Given the description of an element on the screen output the (x, y) to click on. 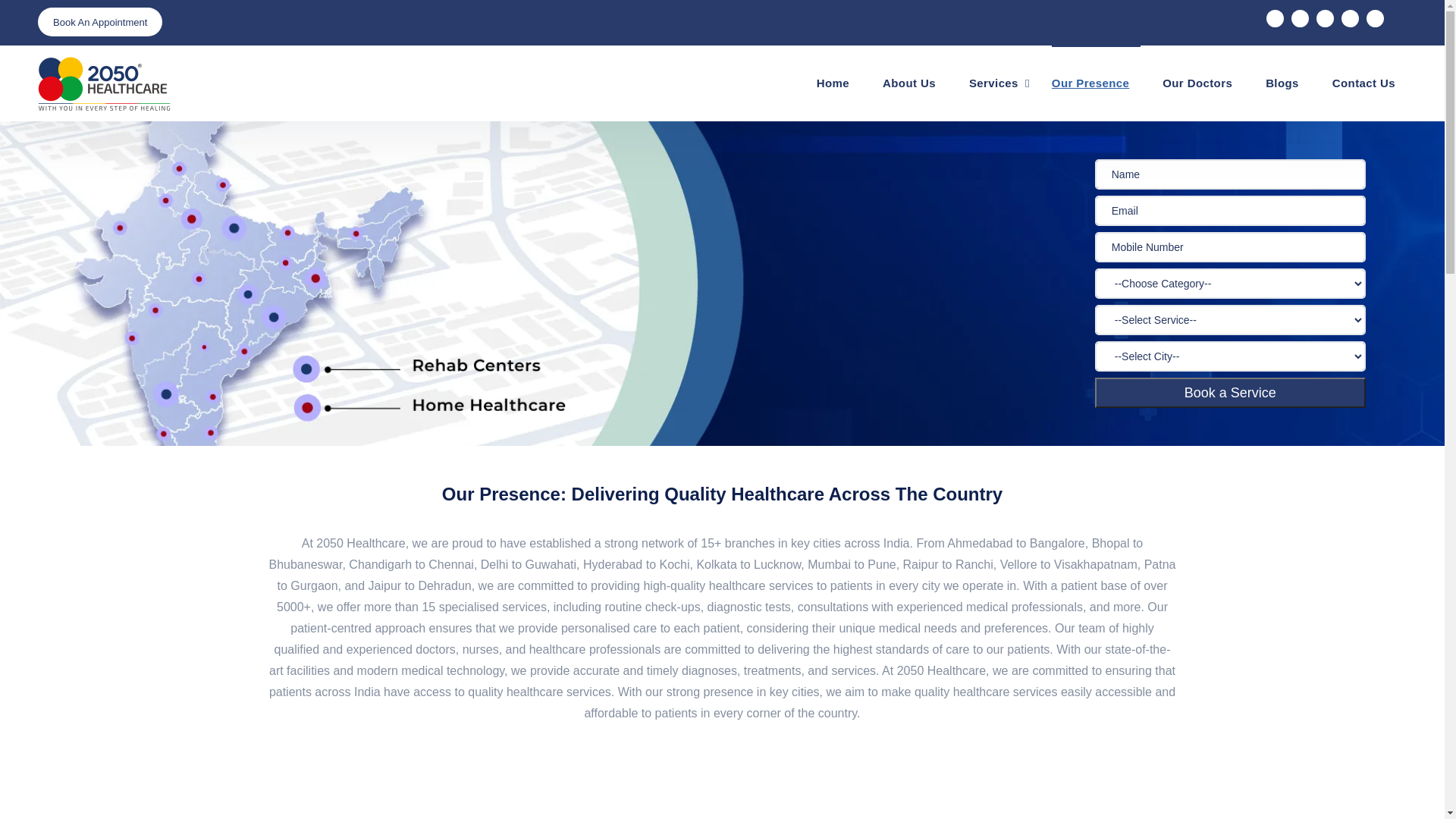
Contact Us Element type: text (1369, 83)
Book An Appointment Element type: text (99, 21)
Blogs Element type: text (1287, 83)
Home Element type: text (838, 83)
About Us Element type: text (914, 83)
Our Presence Element type: text (1095, 83)
Book An Appointment Element type: text (99, 18)
Our Doctors Element type: text (1202, 83)
Book a Service Element type: text (1230, 392)
Services Element type: text (999, 83)
